Given the description of an element on the screen output the (x, y) to click on. 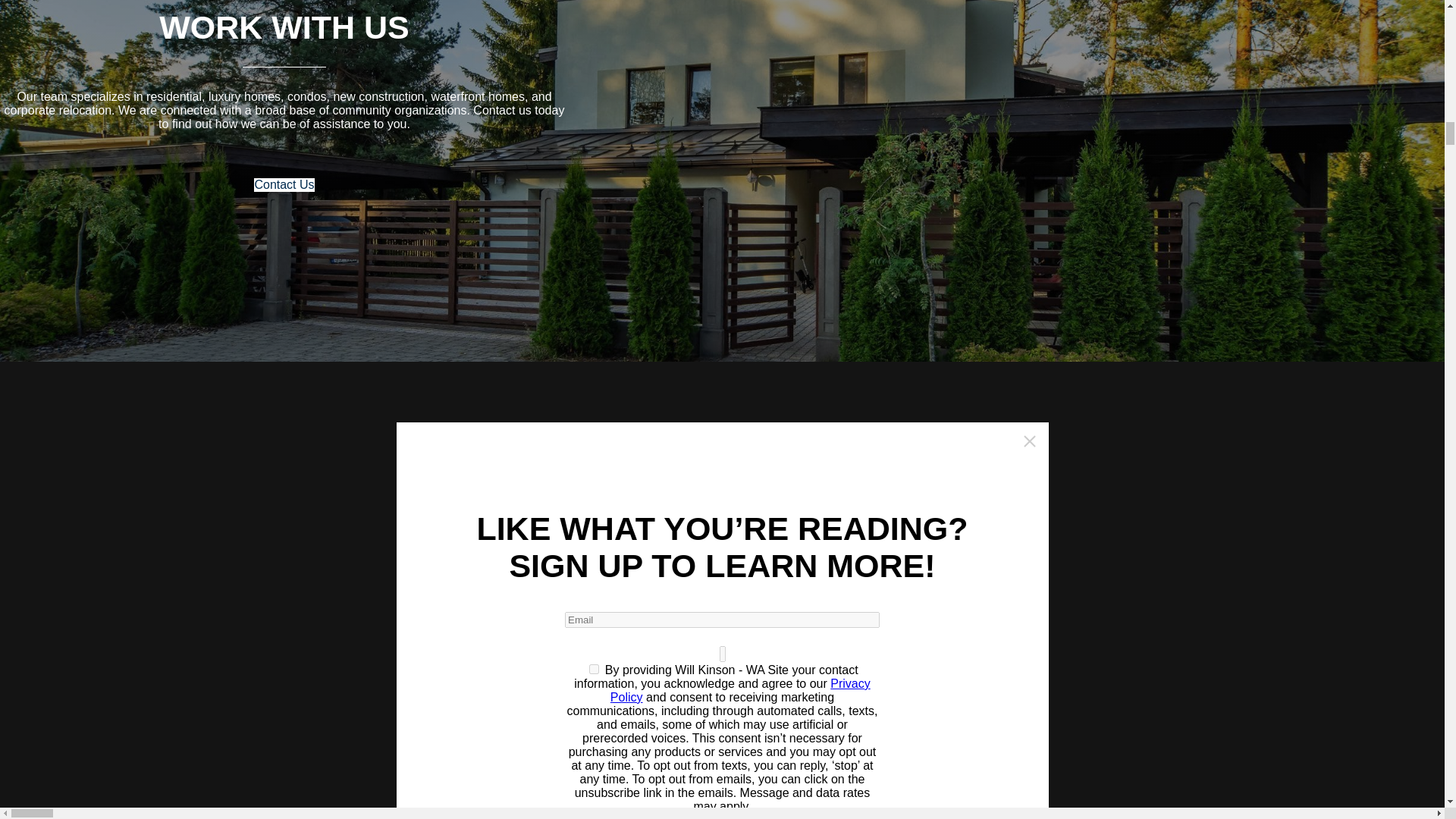
Contact Us (283, 184)
on (593, 669)
